Given the description of an element on the screen output the (x, y) to click on. 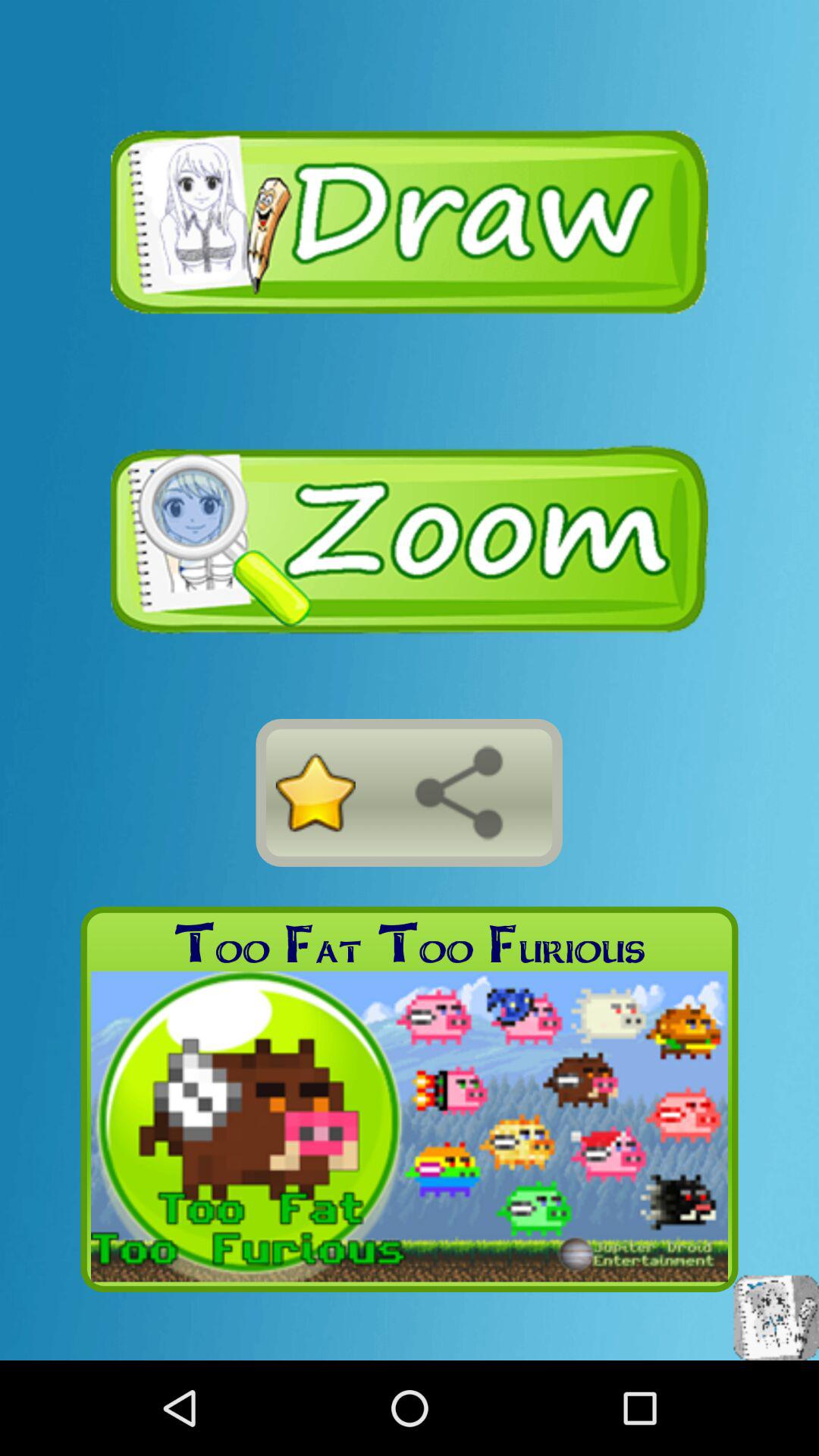
share (458, 792)
